Given the description of an element on the screen output the (x, y) to click on. 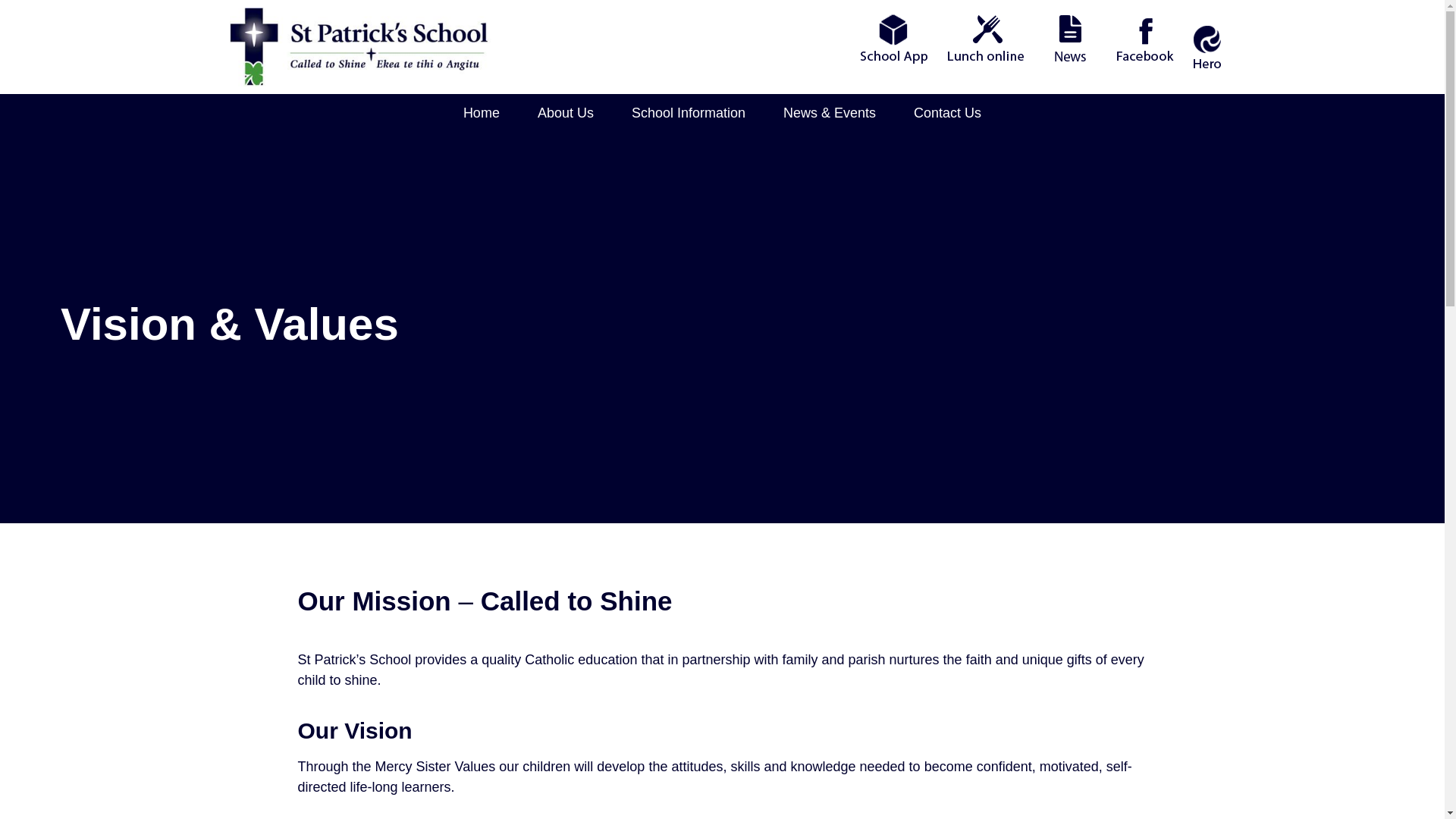
Contact Us (947, 112)
About Us (565, 112)
School Information (688, 112)
Home (481, 112)
